Given the description of an element on the screen output the (x, y) to click on. 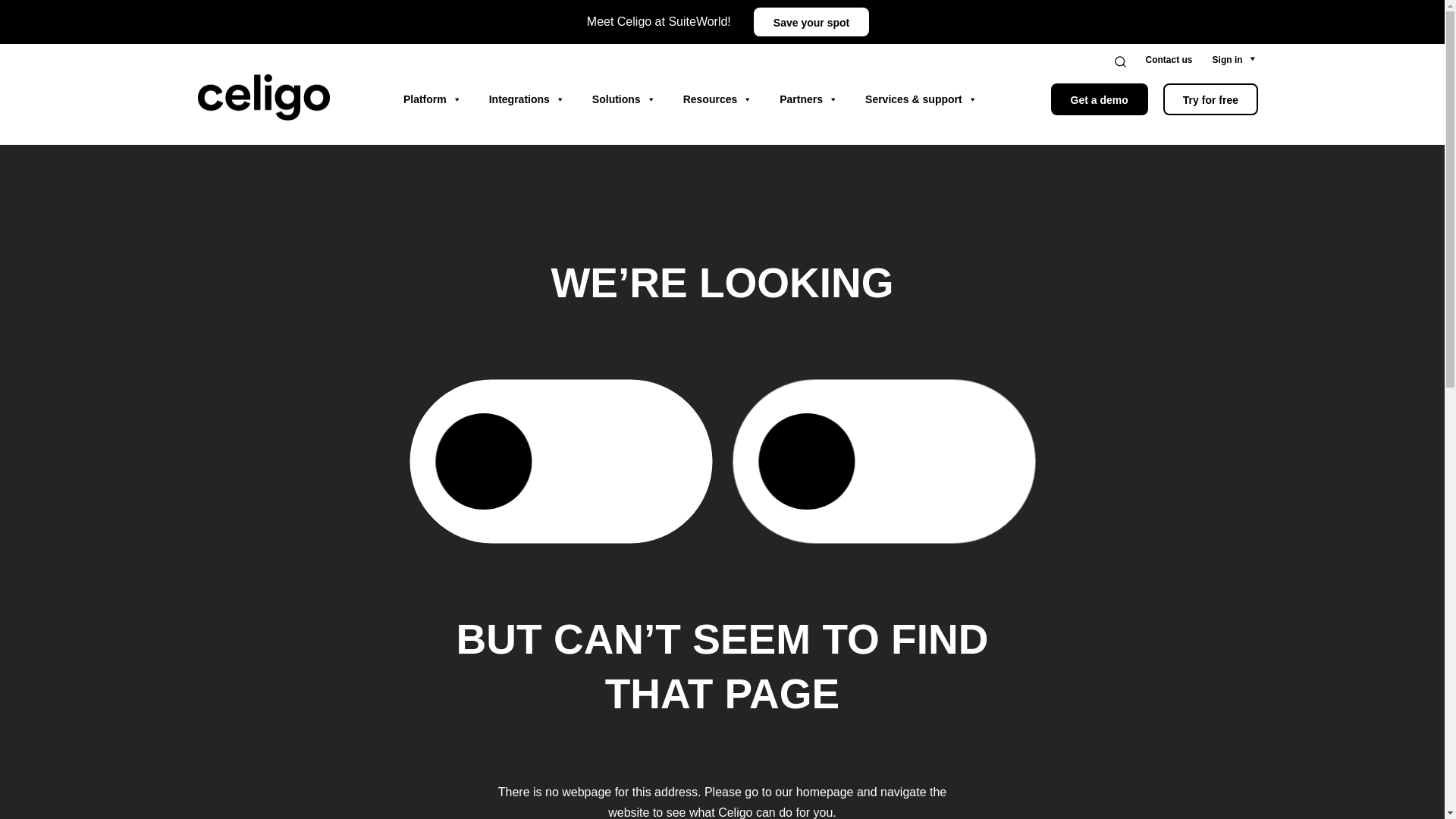
Solutions (623, 99)
Contact us (1168, 59)
Search (1129, 61)
Save your spot (811, 21)
Platform (433, 99)
Sign in (1227, 59)
Integrations (527, 99)
